Given the description of an element on the screen output the (x, y) to click on. 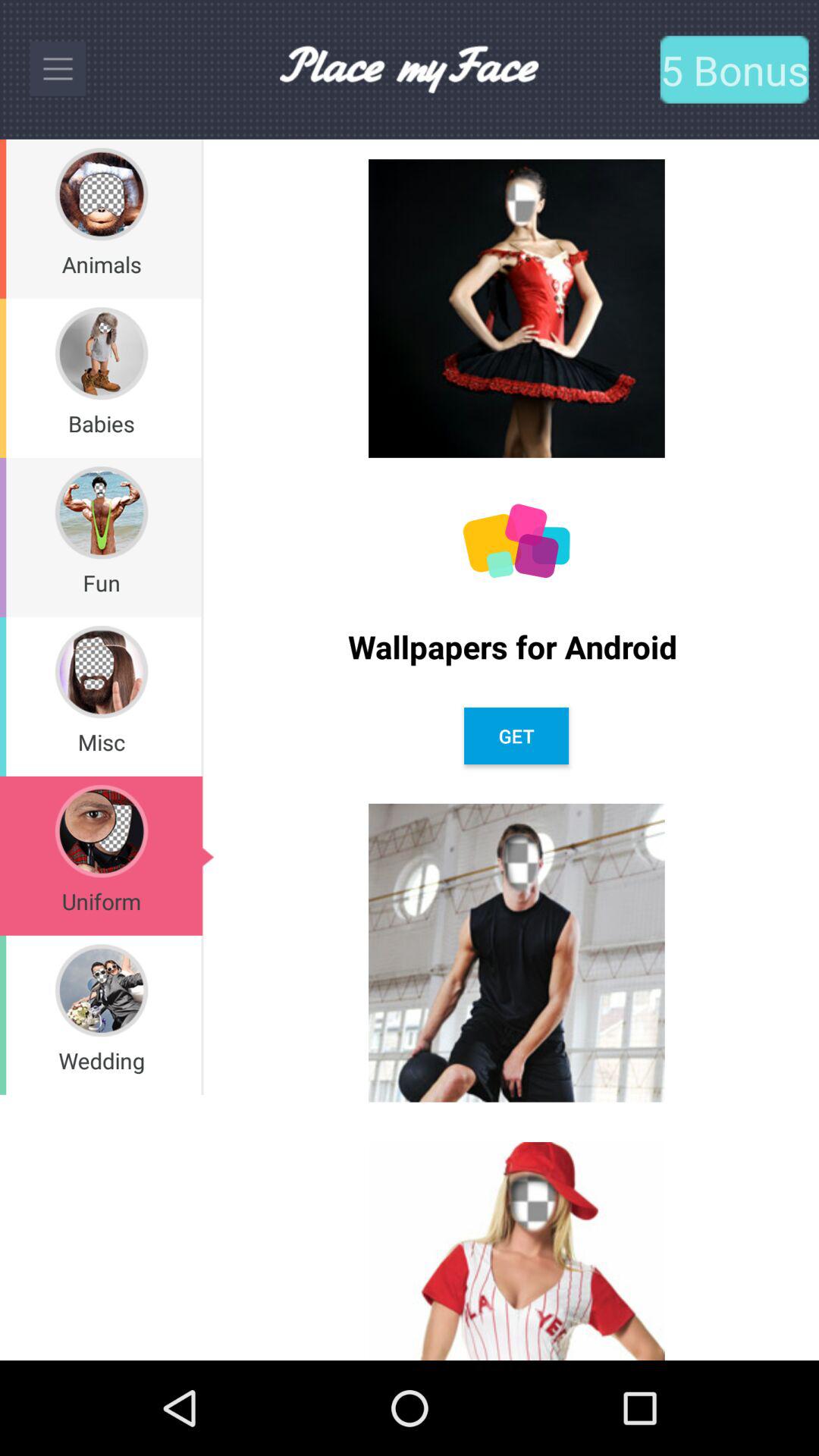
choose the misc app (101, 741)
